Given the description of an element on the screen output the (x, y) to click on. 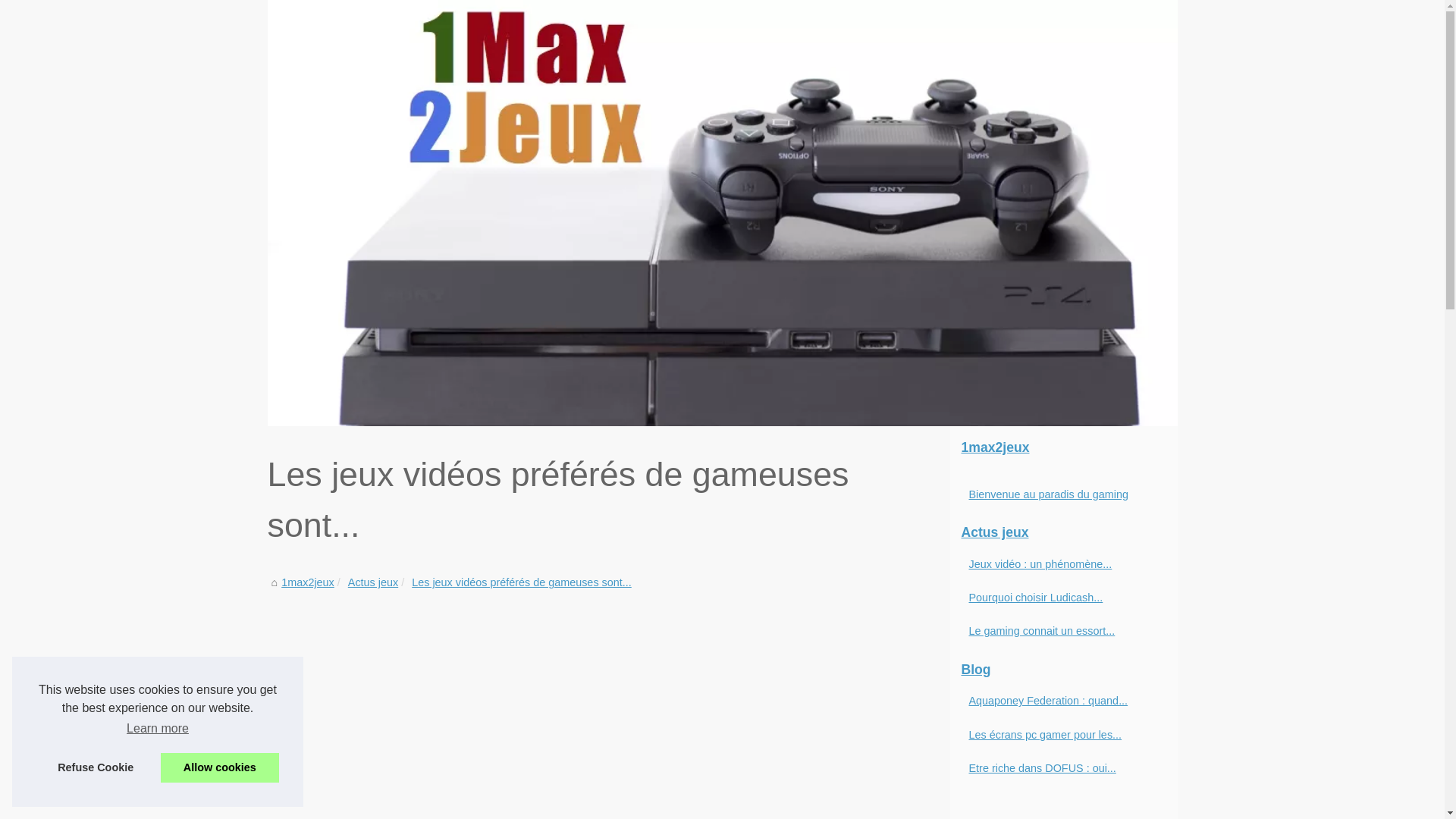
Etre riche dans DOFUS : oui... Element type: text (1055, 768)
Blog Element type: text (1063, 669)
Allow cookies Element type: text (219, 767)
Pourquoi choisir Ludicash... Element type: text (1055, 597)
Actus jeux Element type: text (1063, 532)
1max2jeux Element type: hover (721, 213)
Learn more Element type: text (157, 728)
Actus jeux Element type: text (373, 582)
Aquaponey Federation : quand... Element type: text (1055, 700)
1max2jeux Element type: text (307, 582)
Le gaming connait un essort... Element type: text (1055, 630)
1max2jeux Element type: text (1063, 447)
Bienvenue au paradis du gaming Element type: text (1055, 494)
Advertisement Element type: hover (607, 705)
Refuse Cookie Element type: text (95, 767)
